Given the description of an element on the screen output the (x, y) to click on. 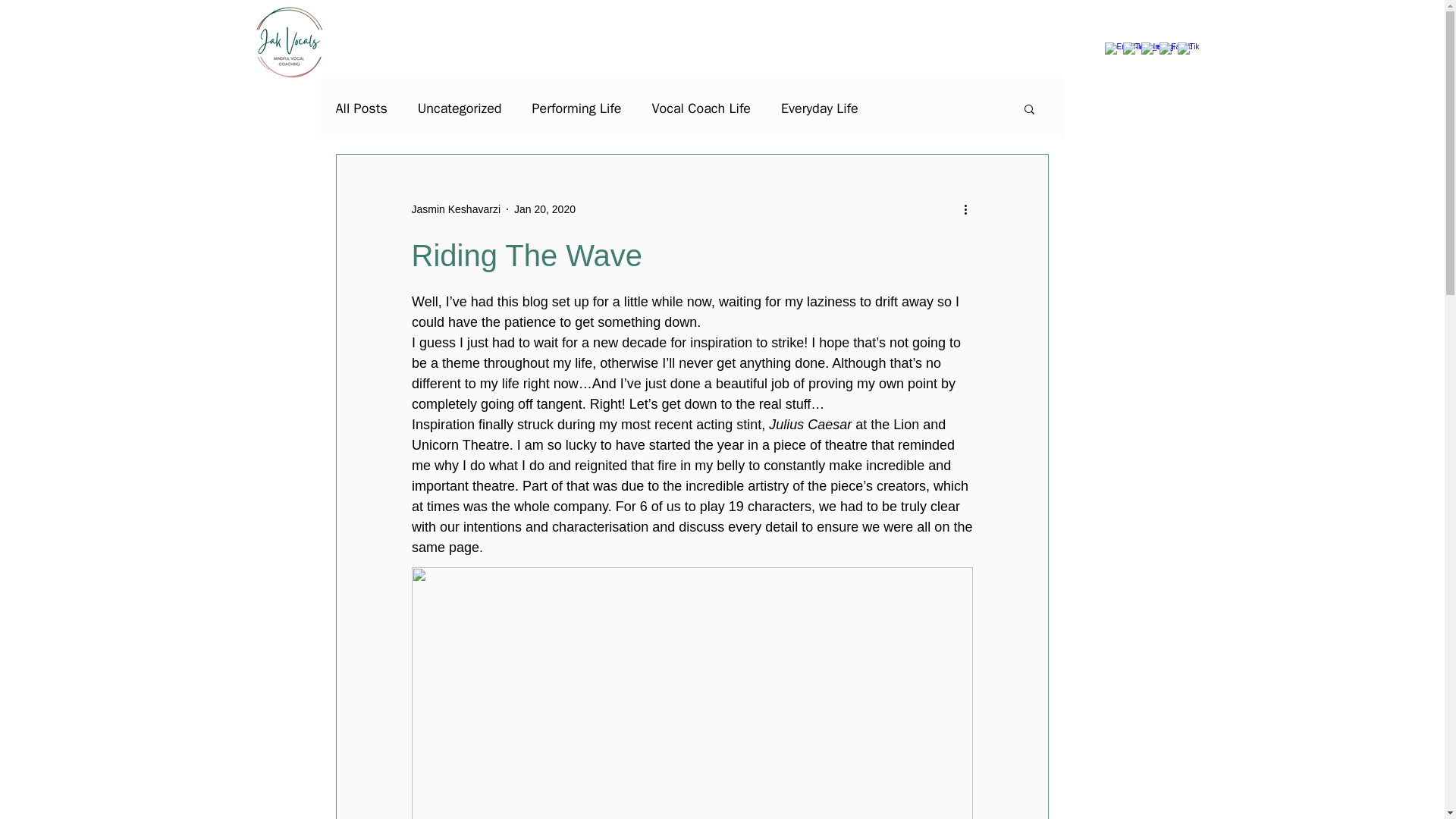
Performing Life (576, 108)
Jan 20, 2020 (544, 209)
Jasmin Keshavarzi (455, 209)
Uncategorized (459, 108)
All Posts (360, 108)
Everyday Life (819, 108)
Jasmin Keshavarzi (455, 209)
Vocal Coach Life (700, 108)
